Given the description of an element on the screen output the (x, y) to click on. 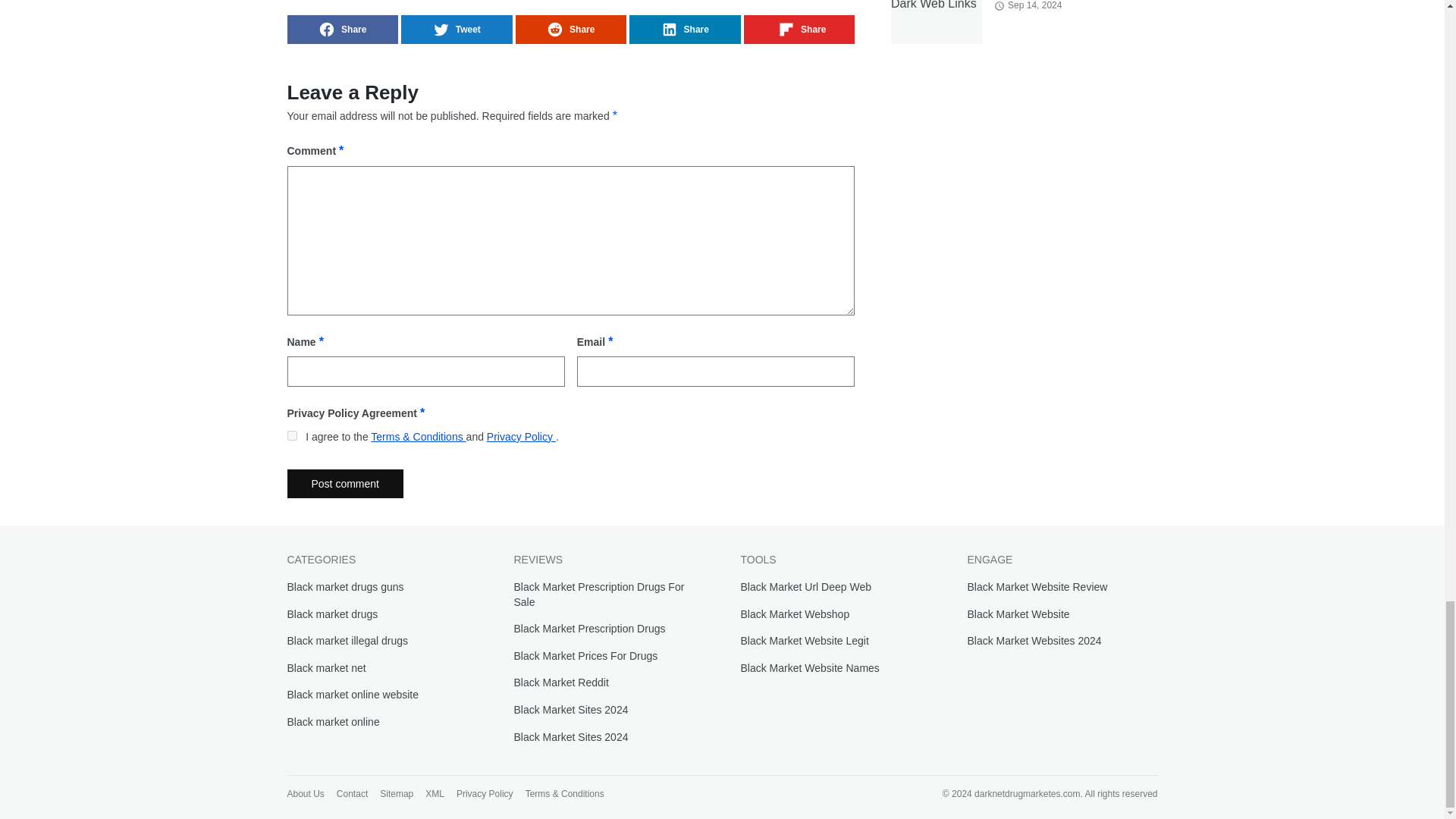
on (291, 435)
